Given the description of an element on the screen output the (x, y) to click on. 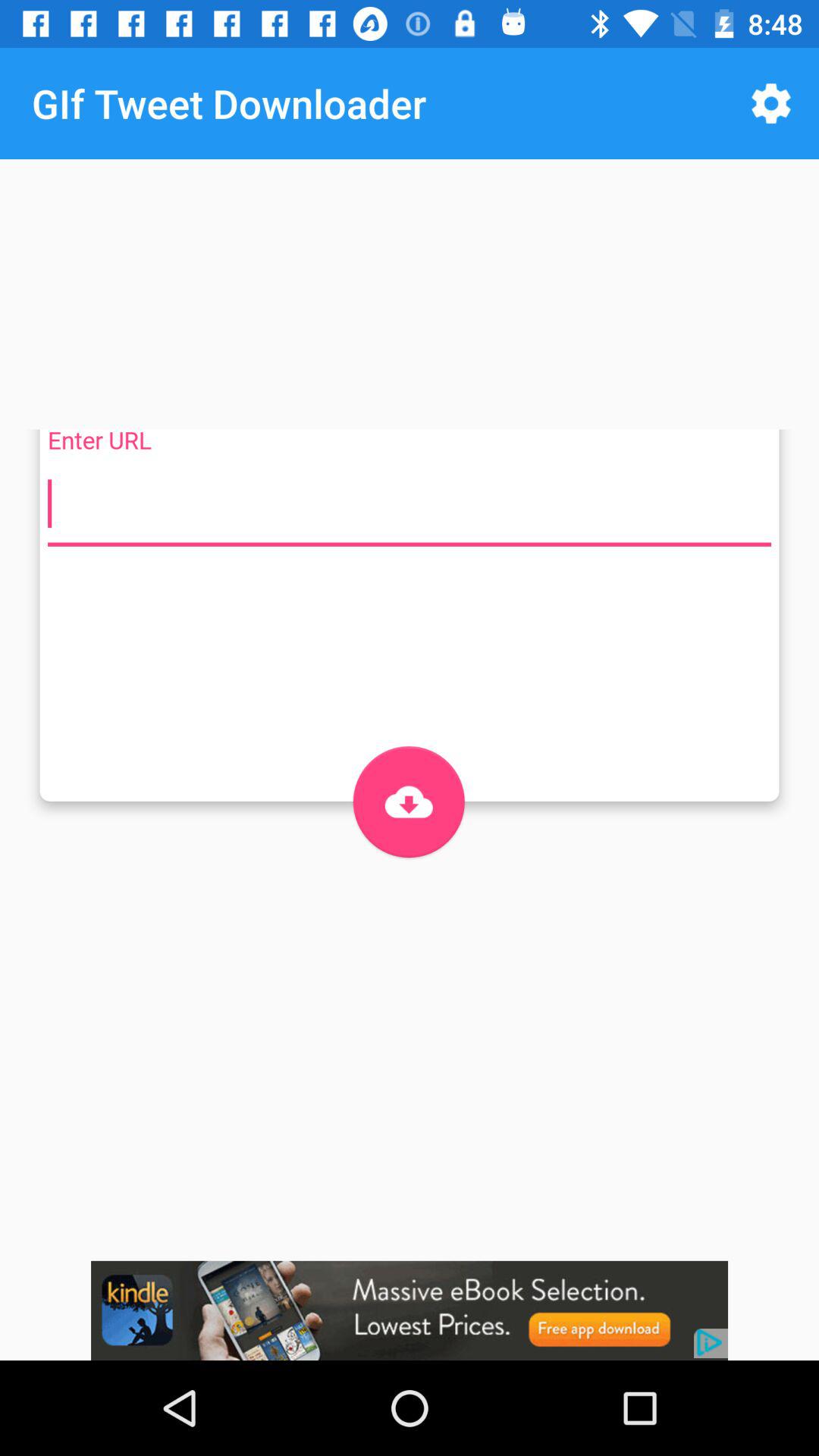
bottom icon (408, 801)
